Given the description of an element on the screen output the (x, y) to click on. 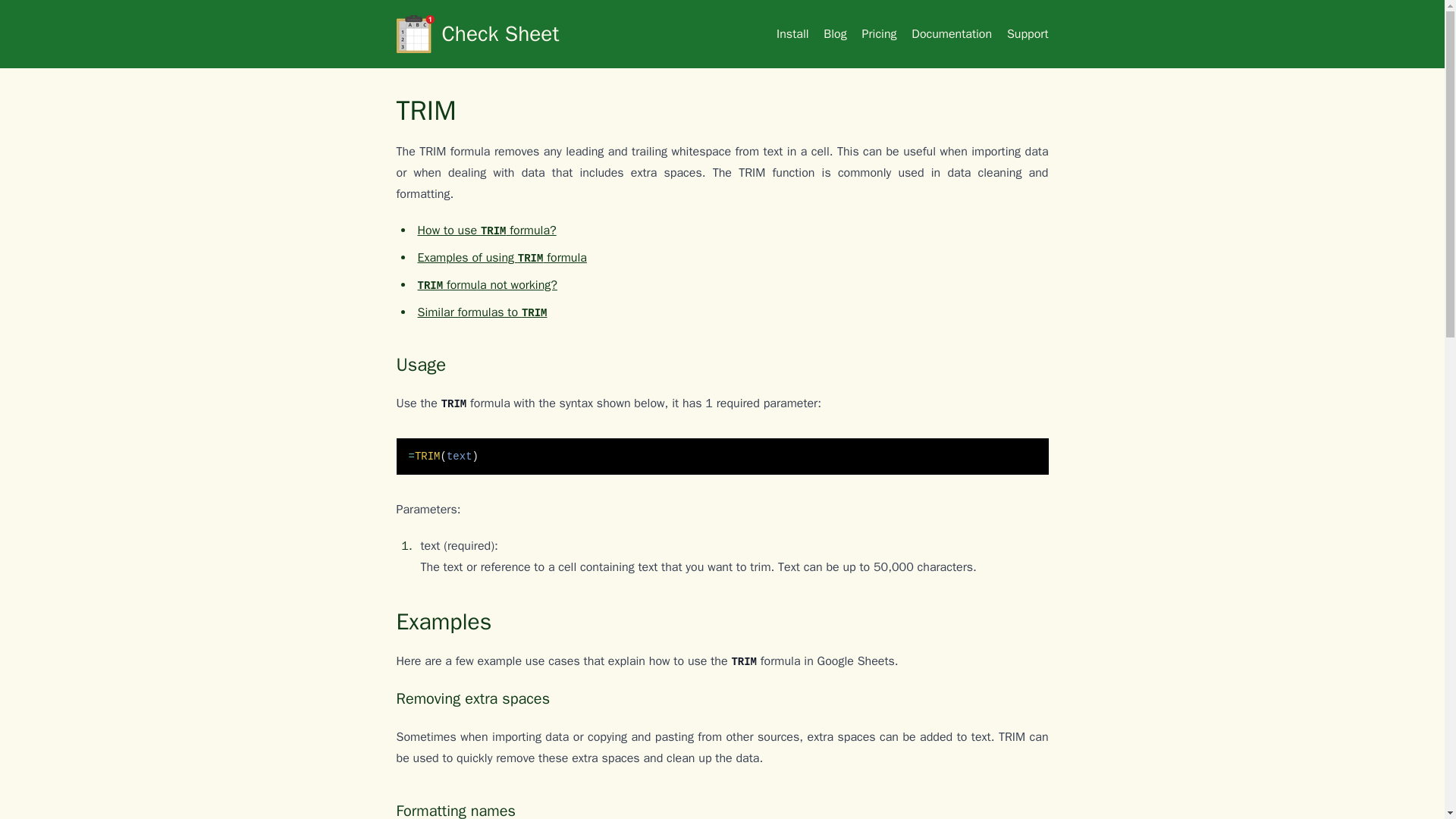
Support (1027, 33)
Examples of using TRIM formula (501, 257)
Documentation (951, 33)
Pricing (878, 33)
TRIM formula not working? (486, 284)
Similar formulas to TRIM (481, 312)
Blog (834, 33)
Check Sheet - Google Sheets Notification (529, 34)
Install (792, 33)
How to use TRIM formula? (486, 230)
Check Sheet (529, 34)
